Given the description of an element on the screen output the (x, y) to click on. 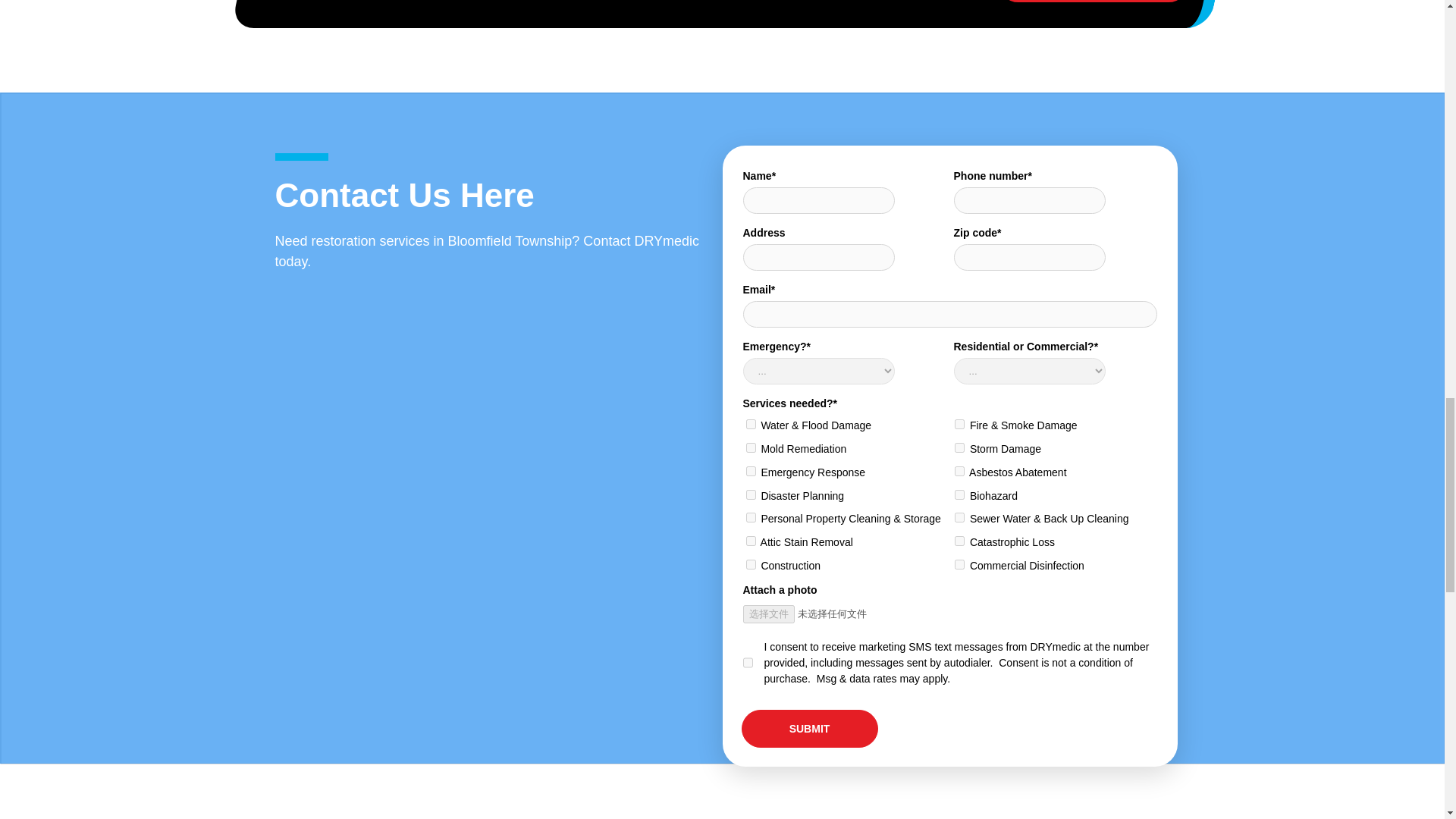
Construction (750, 564)
Biohazard (959, 494)
Asbestos Abatement (959, 470)
Disaster Planning (750, 494)
Commercial Disinfection (959, 564)
Attic Stain Removal (750, 541)
Emergency Response (750, 470)
Storm Damage (959, 447)
Submit (809, 728)
Mold Remediation (750, 447)
Catastrophic Loss (959, 541)
